Given the description of an element on the screen output the (x, y) to click on. 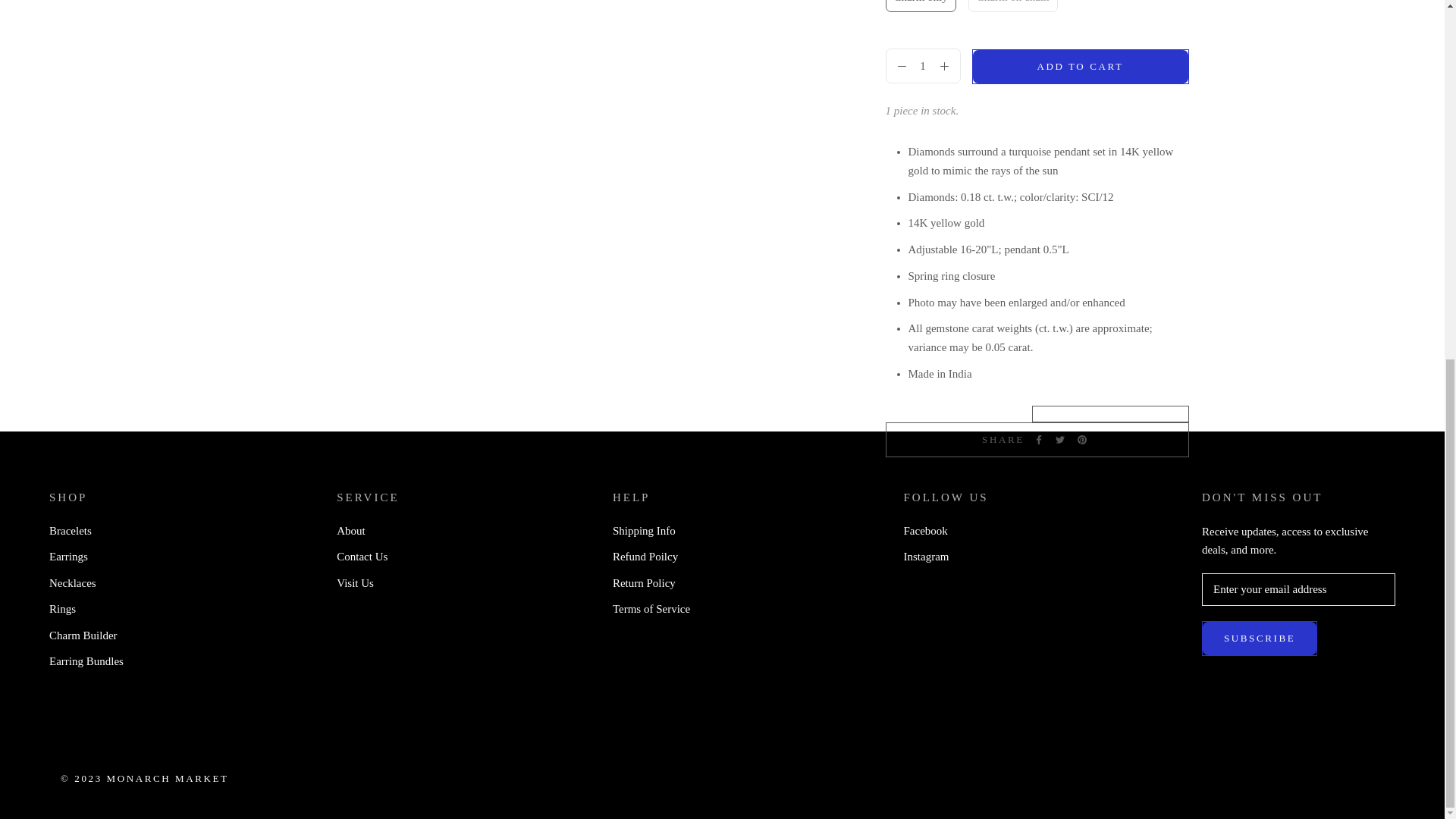
1 (923, 65)
